Given the description of an element on the screen output the (x, y) to click on. 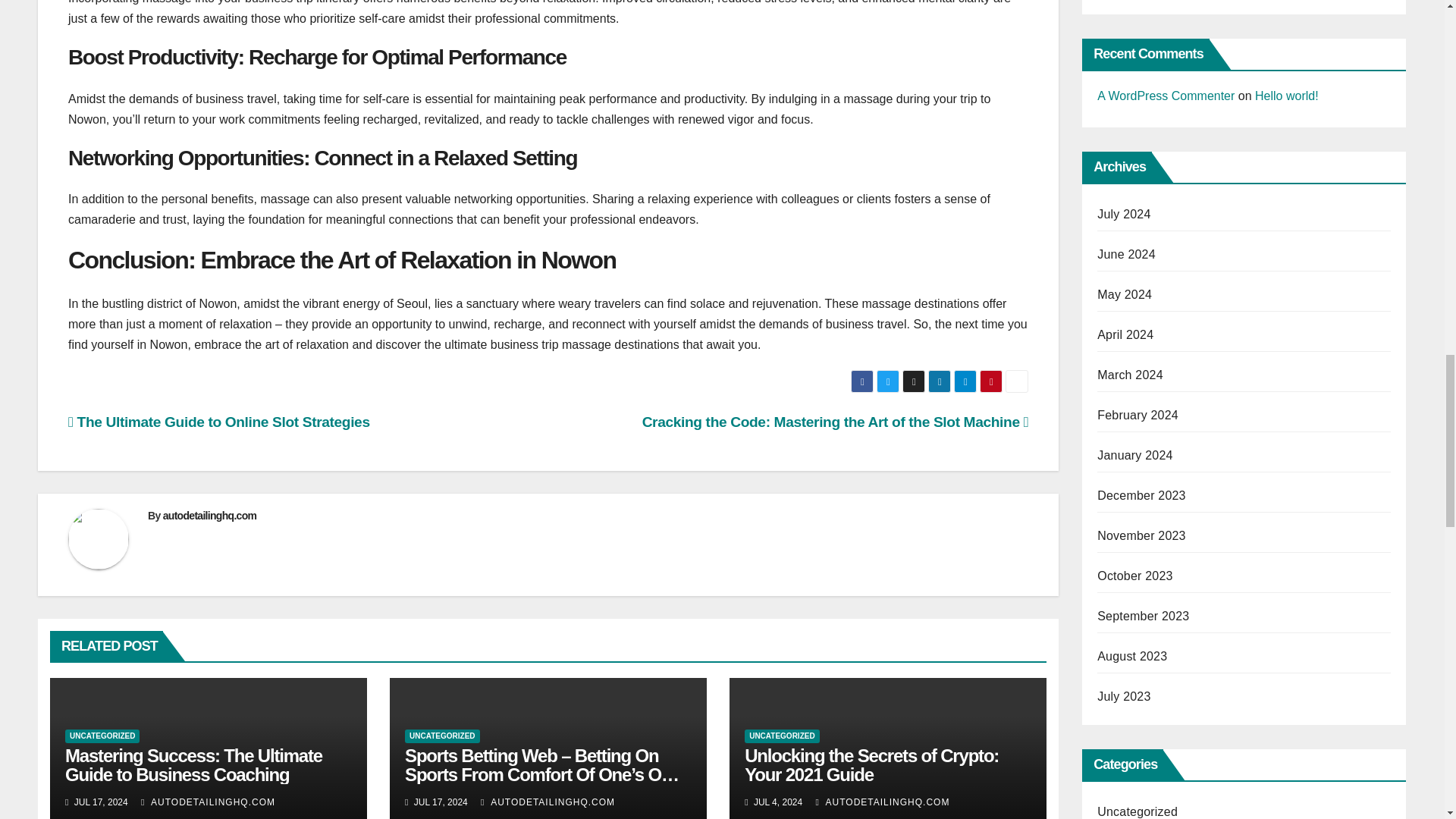
AUTODETAILINGHQ.COM (882, 801)
AUTODETAILINGHQ.COM (547, 801)
autodetailinghq.com (210, 515)
AUTODETAILINGHQ.COM (208, 801)
UNCATEGORIZED (781, 735)
UNCATEGORIZED (102, 735)
UNCATEGORIZED (441, 735)
Mastering Success: The Ultimate Guide to Business Coaching (193, 764)
The Ultimate Guide to Online Slot Strategies (218, 421)
Unlocking the Secrets of Crypto: Your 2021 Guide (871, 764)
Cracking the Code: Mastering the Art of the Slot Machine (835, 421)
